Given the description of an element on the screen output the (x, y) to click on. 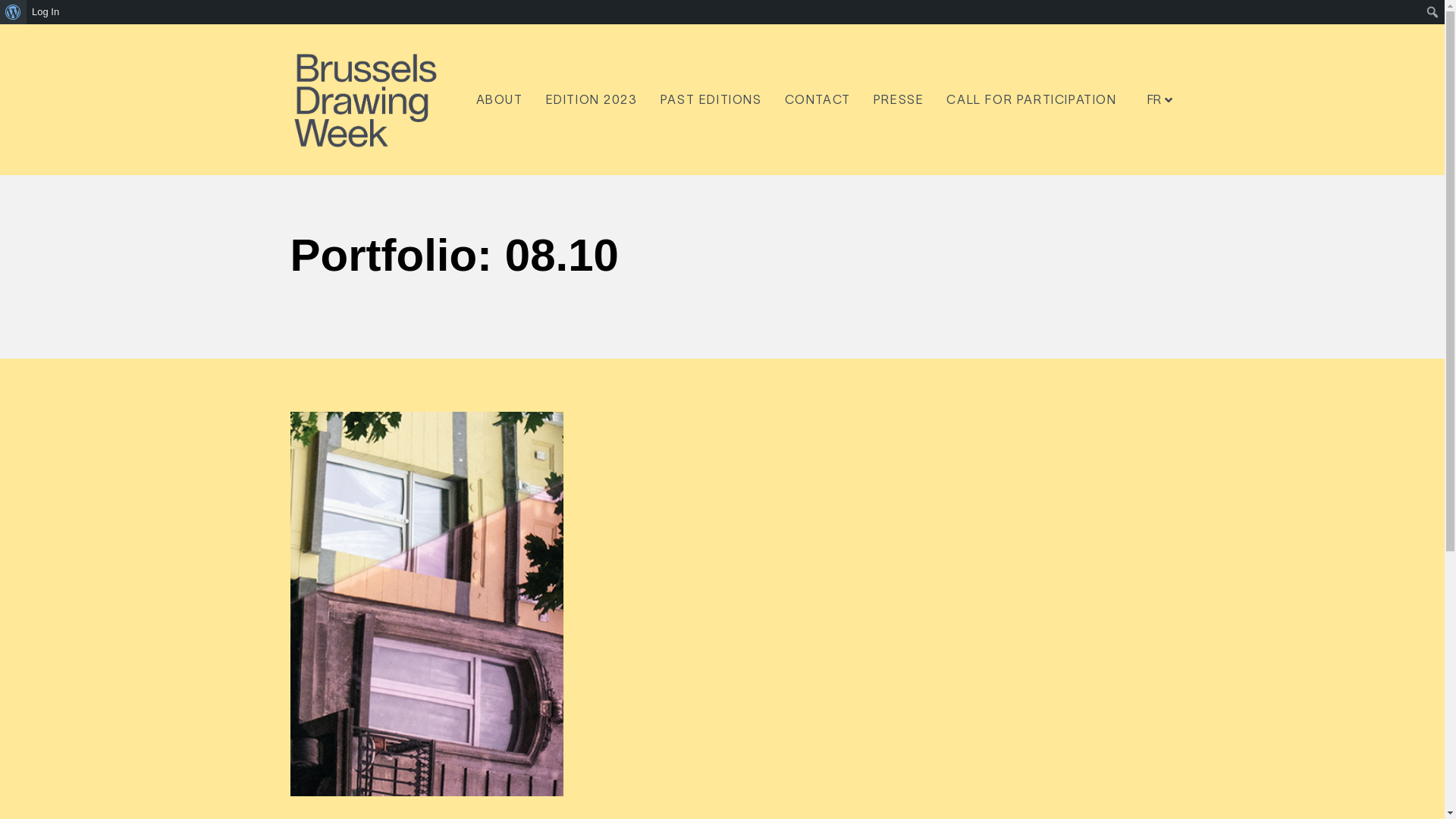
Recherche Element type: text (25, 13)
EDITION 2023 Element type: text (590, 99)
Log In Element type: text (45, 12)
CONTACT Element type: text (817, 99)
CALL FOR PARTICIPATION Element type: text (1031, 99)
PRESSE Element type: text (898, 99)
PAST EDITIONS Element type: text (711, 99)
ABOUT Element type: text (498, 99)
